Given the description of an element on the screen output the (x, y) to click on. 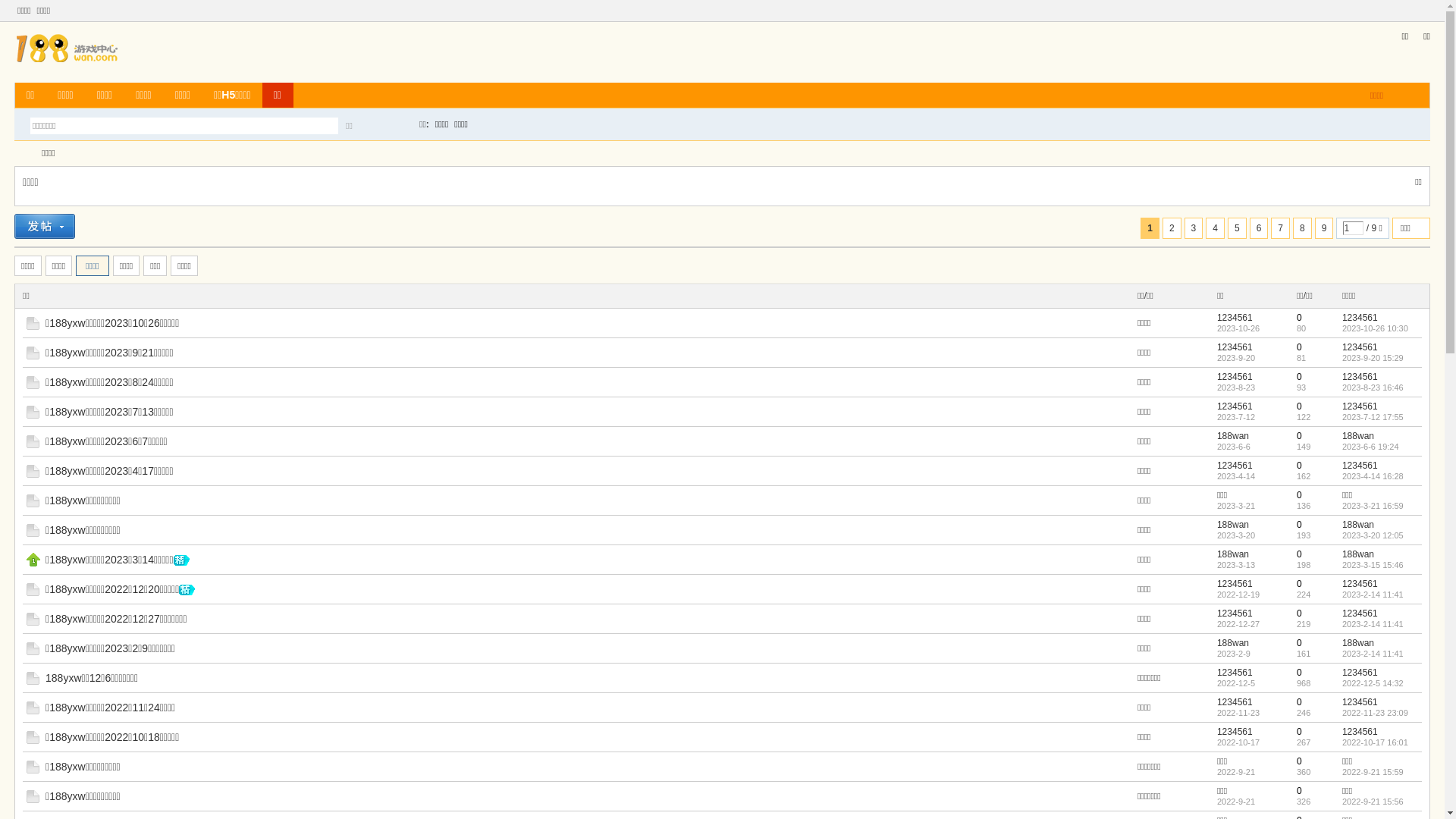
2022-9-21 15:59 Element type: text (1372, 771)
0 Element type: text (1299, 317)
1234561 Element type: text (1359, 317)
0 Element type: text (1299, 376)
1234561 Element type: text (1234, 317)
5 Element type: text (1236, 227)
true Element type: text (395, 125)
2023-8-23 16:46 Element type: text (1372, 387)
0 Element type: text (1299, 790)
0 Element type: text (1299, 761)
1234561 Element type: text (1359, 583)
2022-9-21 15:56 Element type: text (1372, 801)
2023-3-21 16:59 Element type: text (1372, 505)
188wan Element type: text (1232, 642)
7 Element type: text (1279, 227)
0 Element type: text (1299, 642)
2023-2-14 11:41 Element type: text (1372, 594)
0 Element type: text (1299, 672)
1234561 Element type: text (1359, 701)
8 Element type: text (1301, 227)
2023-9-20 15:29 Element type: text (1372, 357)
1234561 Element type: text (1234, 406)
188wan Element type: text (1358, 554)
1234561 Element type: text (1234, 583)
1234561 Element type: text (1359, 376)
1234561 Element type: text (1359, 672)
188wan Element type: text (1232, 554)
0 Element type: text (1299, 465)
1234561 Element type: text (1359, 347)
1234561 Element type: text (1359, 613)
0 Element type: text (1299, 613)
1234561 Element type: text (1234, 731)
2023-3-20 12:05 Element type: text (1372, 534)
0 Element type: text (1299, 583)
2022-11-23 23:09 Element type: text (1375, 712)
1234561 Element type: text (1359, 465)
188wan Element type: text (1358, 435)
1234561 Element type: text (1234, 613)
1234561 Element type: text (1234, 347)
1234561 Element type: text (1234, 701)
2023-2-14 11:41 Element type: text (1372, 653)
0 Element type: text (1299, 554)
9 Element type: text (1323, 227)
0 Element type: text (1299, 435)
2022-12-5 14:32 Element type: text (1372, 682)
2023-7-12 17:55 Element type: text (1372, 416)
2023-2-14 11:41 Element type: text (1372, 623)
3 Element type: text (1193, 227)
0 Element type: text (1299, 347)
188wan Element type: text (1232, 435)
2022-10-17 16:01 Element type: text (1375, 741)
2023-10-26 10:30 Element type: text (1375, 327)
2023-4-14 16:28 Element type: text (1372, 475)
1234561 Element type: text (1234, 672)
1234561 Element type: text (1359, 406)
2 Element type: text (1171, 227)
2023-6-6 19:24 Element type: text (1370, 446)
1234561 Element type: text (1234, 376)
0 Element type: text (1299, 406)
1234561 Element type: text (1359, 731)
0 Element type: text (1299, 494)
0 Element type: text (1299, 731)
188wan Element type: text (1358, 642)
188wan Element type: text (1232, 524)
1234561 Element type: text (1234, 465)
0 Element type: text (1299, 524)
0 Element type: text (1299, 701)
6 Element type: text (1258, 227)
188wan Element type: text (1358, 524)
4 Element type: text (1214, 227)
2023-3-15 15:46 Element type: text (1372, 564)
